Given the description of an element on the screen output the (x, y) to click on. 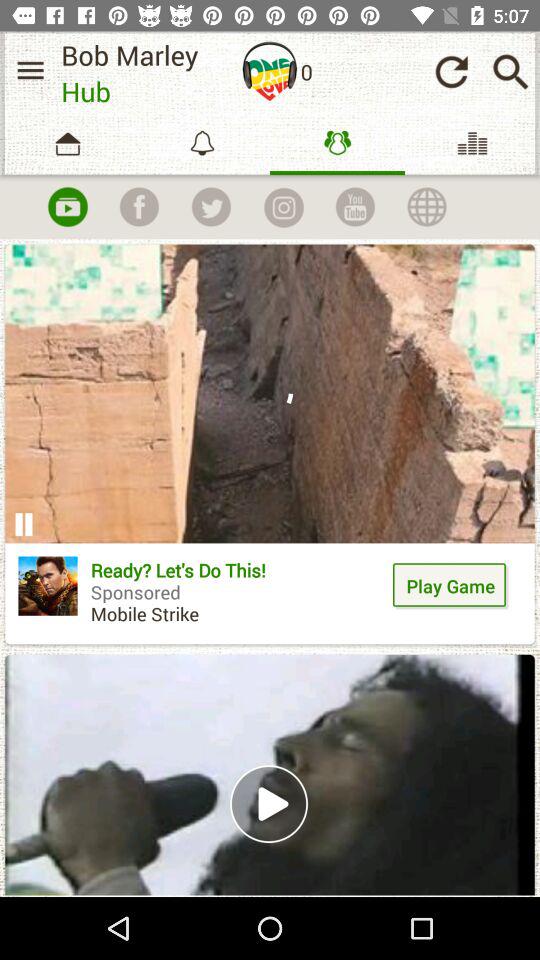
open youtube (355, 207)
